Given the description of an element on the screen output the (x, y) to click on. 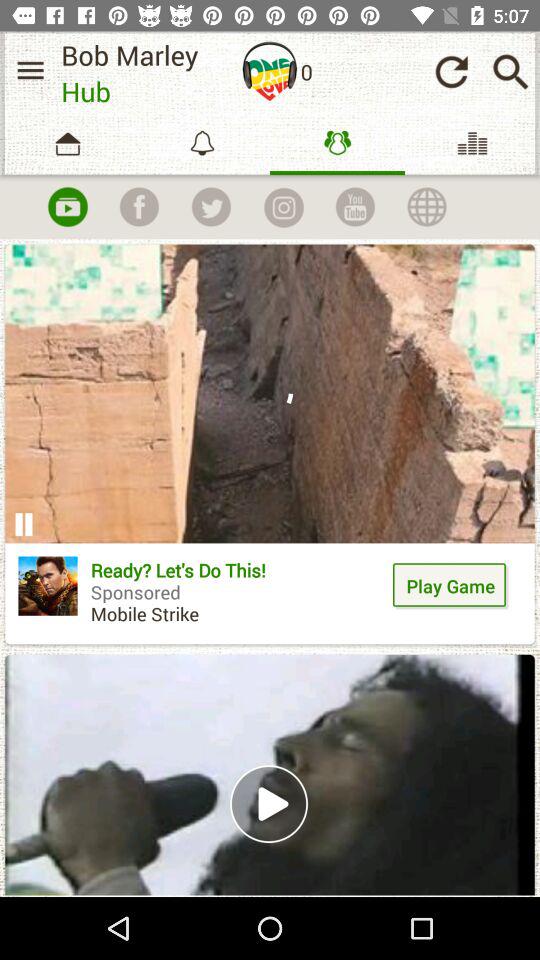
open youtube (355, 207)
